Given the description of an element on the screen output the (x, y) to click on. 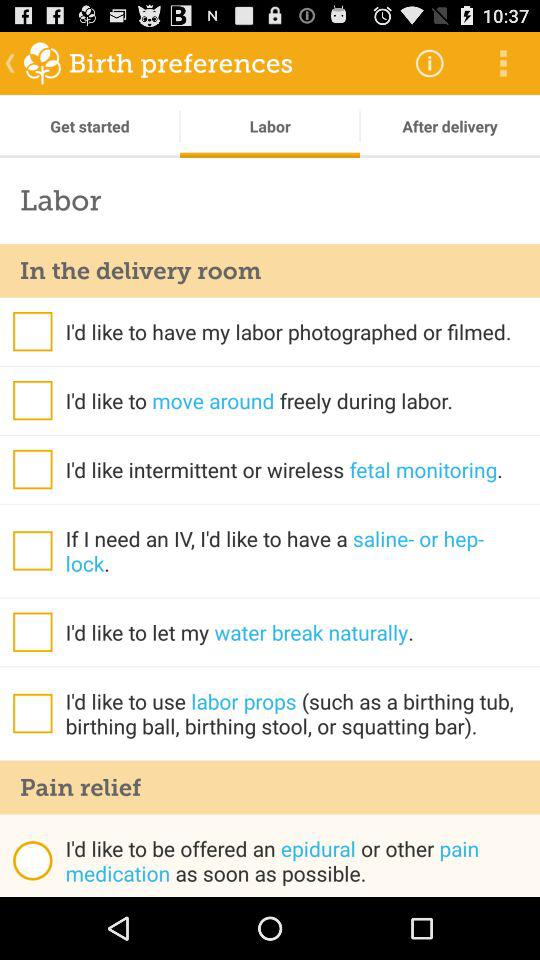
press the app to the left of the labor icon (90, 125)
